Given the description of an element on the screen output the (x, y) to click on. 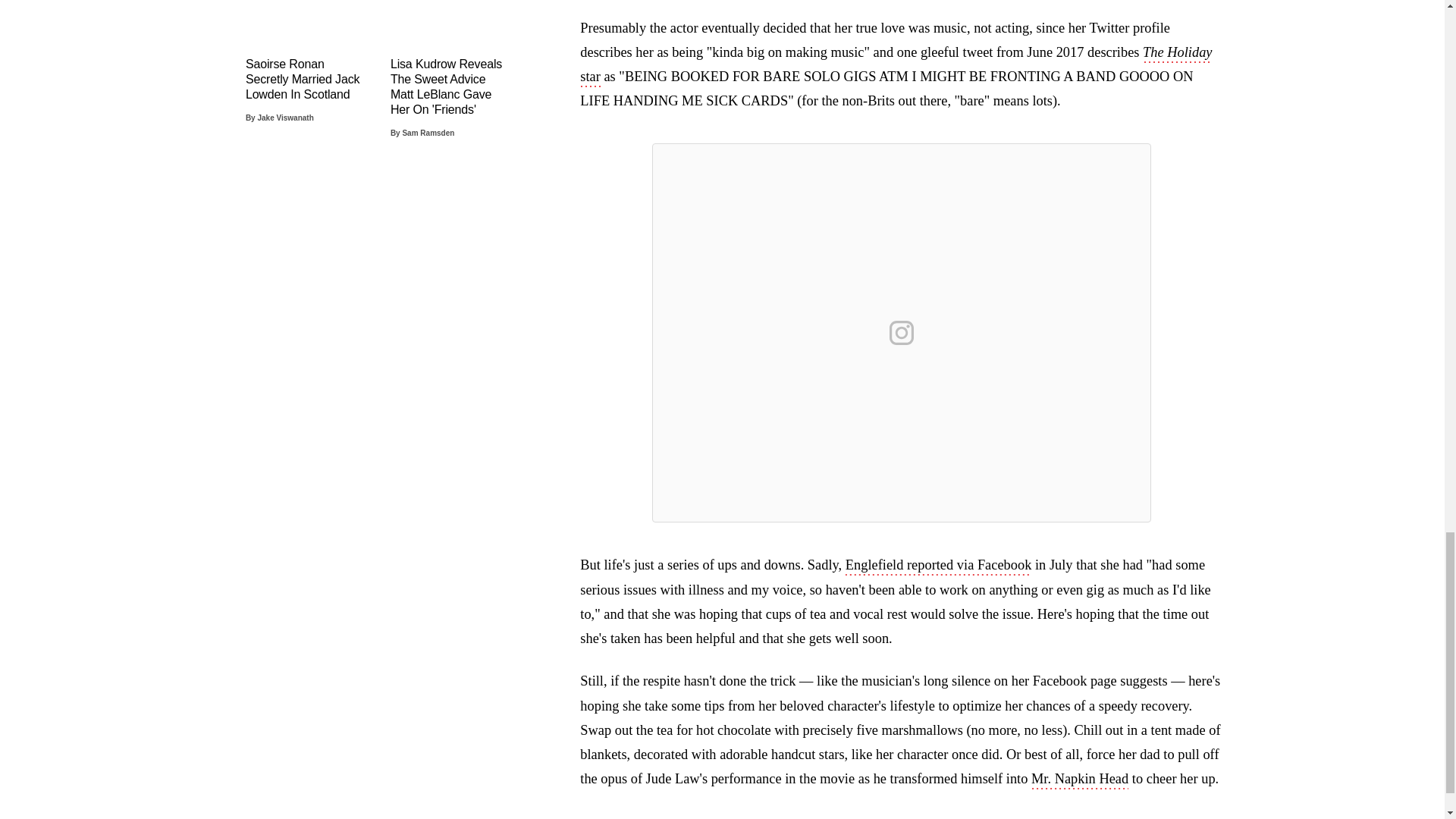
Mr. Napkin Head (1079, 780)
Englefield reported via Facebook (938, 566)
View on Instagram (901, 332)
The Holiday star (895, 65)
